Given the description of an element on the screen output the (x, y) to click on. 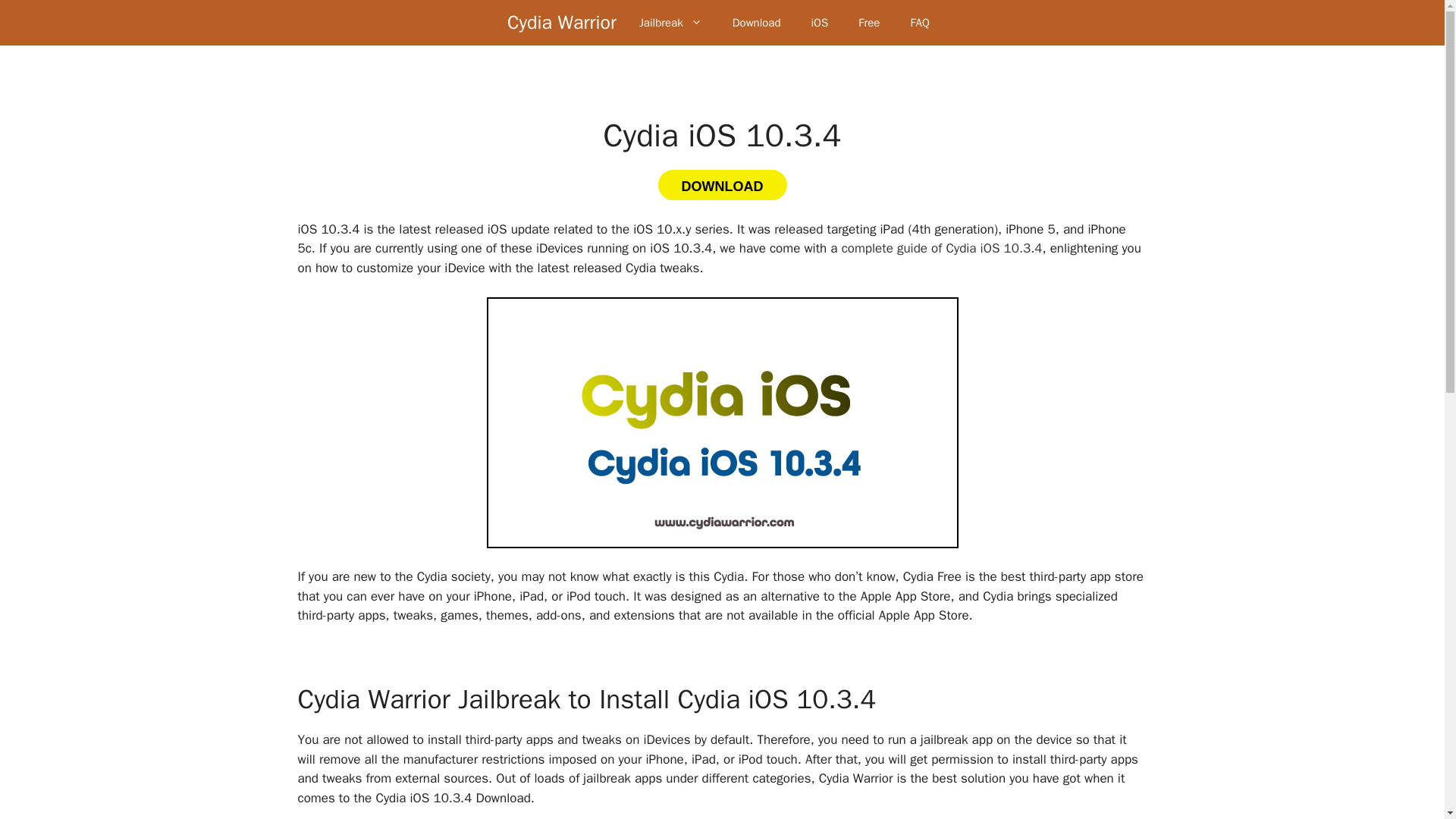
complete guide of Cydia iOS 10.3.4 (941, 248)
iOS (818, 22)
Download (756, 22)
DOWNLOAD (722, 184)
Cydia Warrior (560, 22)
Free (869, 22)
Jailbreak (670, 22)
FAQ (919, 22)
